Given the description of an element on the screen output the (x, y) to click on. 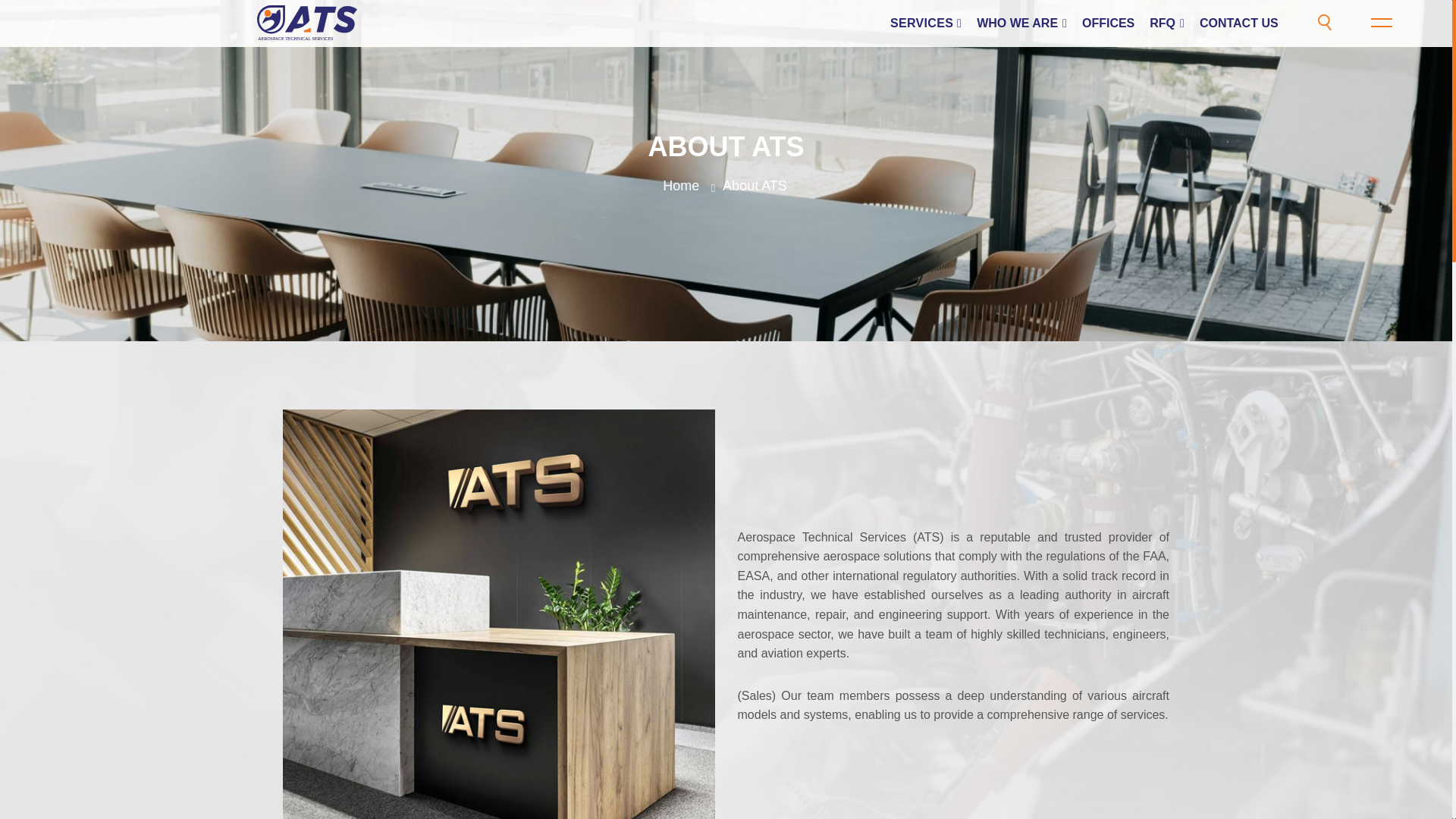
Menu (1390, 23)
RFQ (1166, 23)
SERVICES (925, 23)
OFFICES (1107, 23)
CONTACT US (1238, 23)
Home (680, 185)
WHO WE ARE (1021, 23)
